Given the description of an element on the screen output the (x, y) to click on. 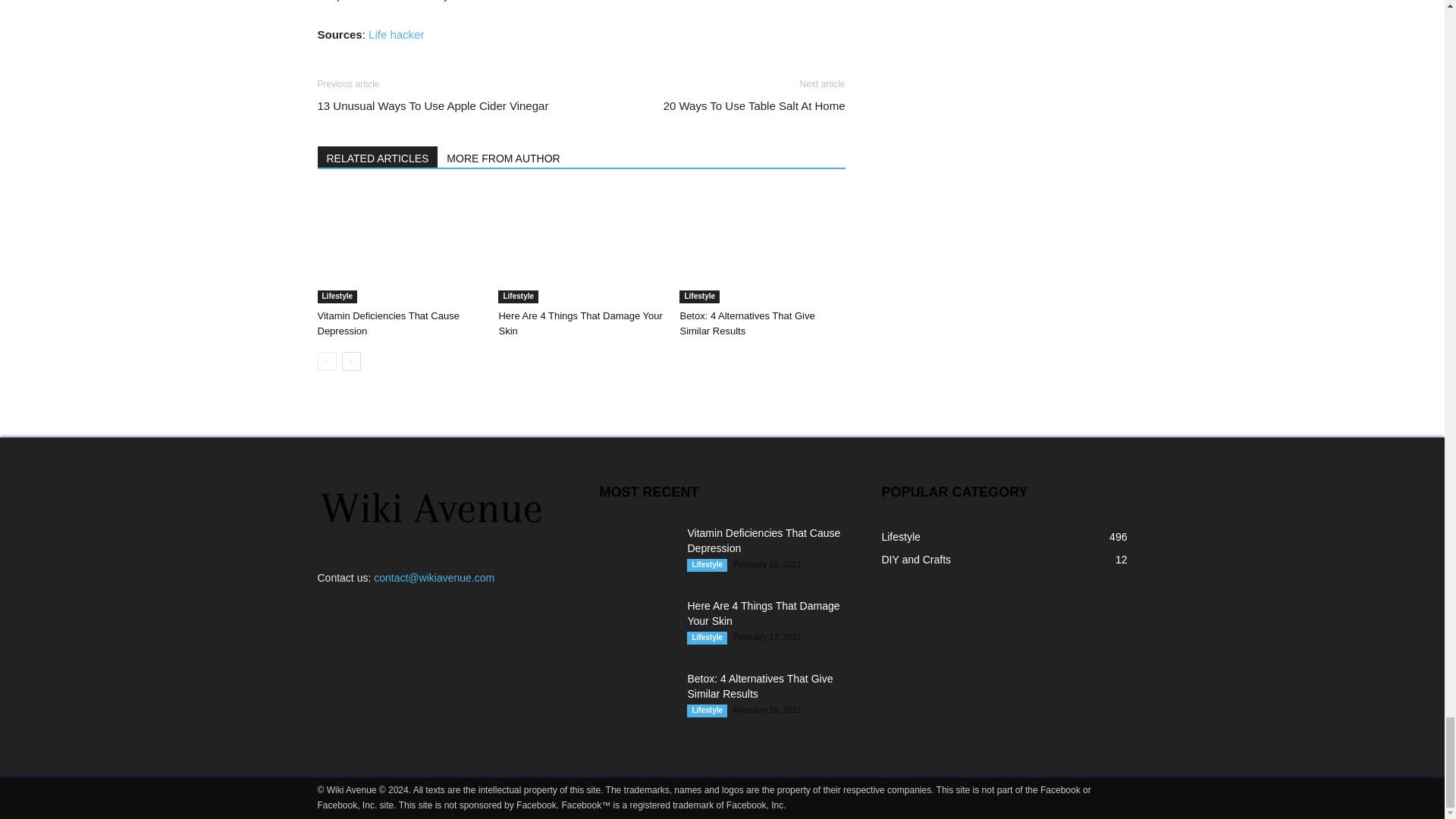
Vitamin Deficiencies That Cause Depression (387, 323)
Wiki Avenue (483, 0)
Here Are 4 Things That Damage Your Skin (579, 323)
Vitamin Deficiencies That Cause Depression (399, 246)
Betox: 4 Alternatives That Give Similar Results (746, 323)
RELATED ARTICLES (377, 156)
Here Are 4 Things That Damage Your Skin (579, 323)
Betox: 4 Alternatives That Give Similar Results (761, 246)
MORE FROM AUTHOR (503, 156)
20 Ways To Use Table Salt At Home (754, 105)
13 Unusual Ways To Use Apple Cider Vinegar (432, 105)
Lifestyle (699, 296)
Betox: 4 Alternatives That Give Similar Results (746, 323)
Here Are 4 Things That Damage Your Skin (580, 246)
Lifestyle (336, 296)
